Given the description of an element on the screen output the (x, y) to click on. 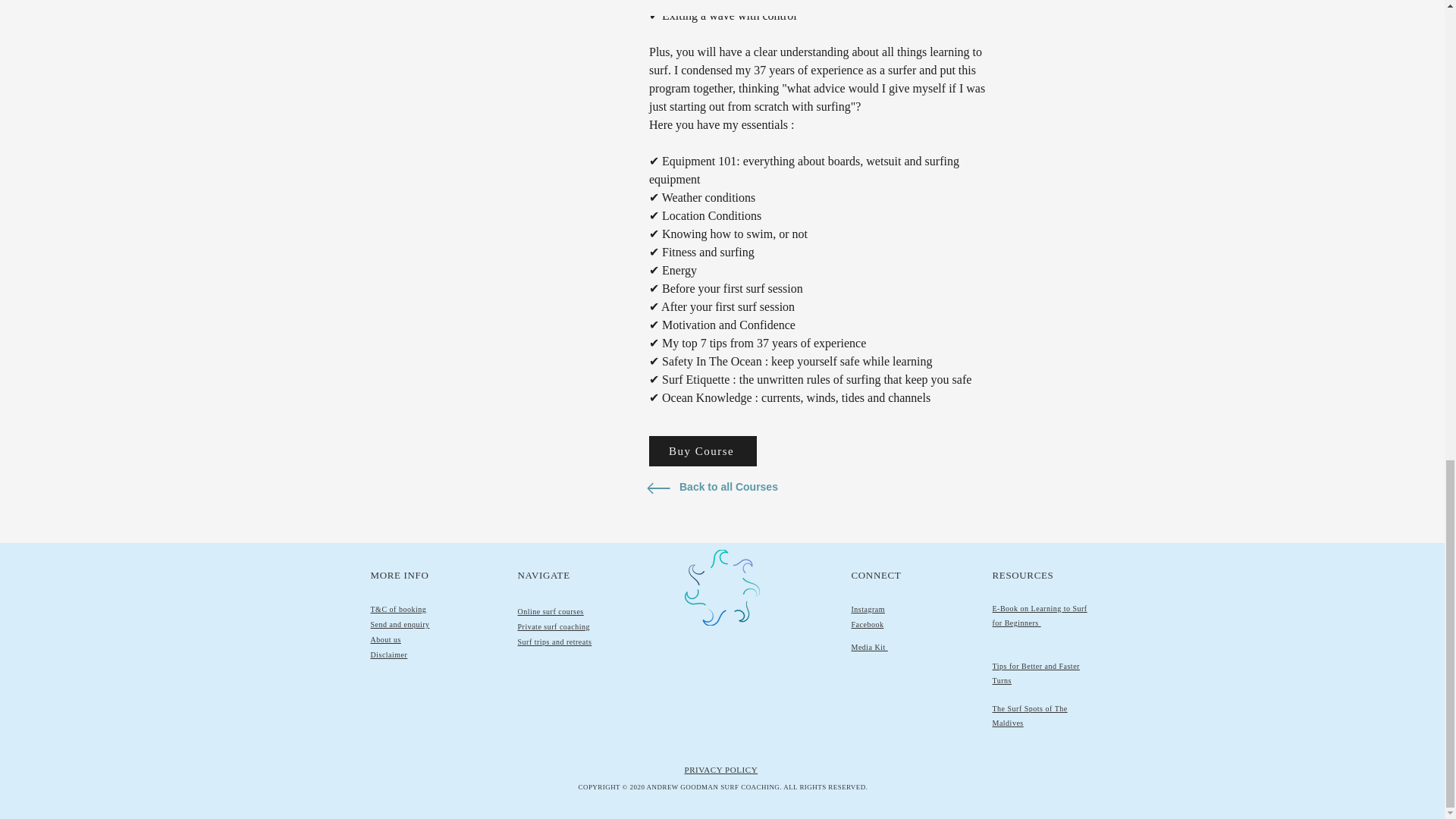
Buy Course (703, 450)
Send and enquiry (399, 623)
Media Kit  (868, 646)
E-Book on Learning to Surf for Beginners  (1038, 615)
Instagram (867, 609)
The Surf Spots of The Maldives (1029, 715)
Tips for Better and Faster Turns (1034, 672)
About us (384, 639)
Back to all Courses (731, 487)
Private surf coaching (552, 626)
PRIVACY POLICY (720, 768)
Facebook (866, 623)
Surf trips and retreats (553, 642)
Disclaimer (388, 654)
Online surf courses (549, 611)
